Given the description of an element on the screen output the (x, y) to click on. 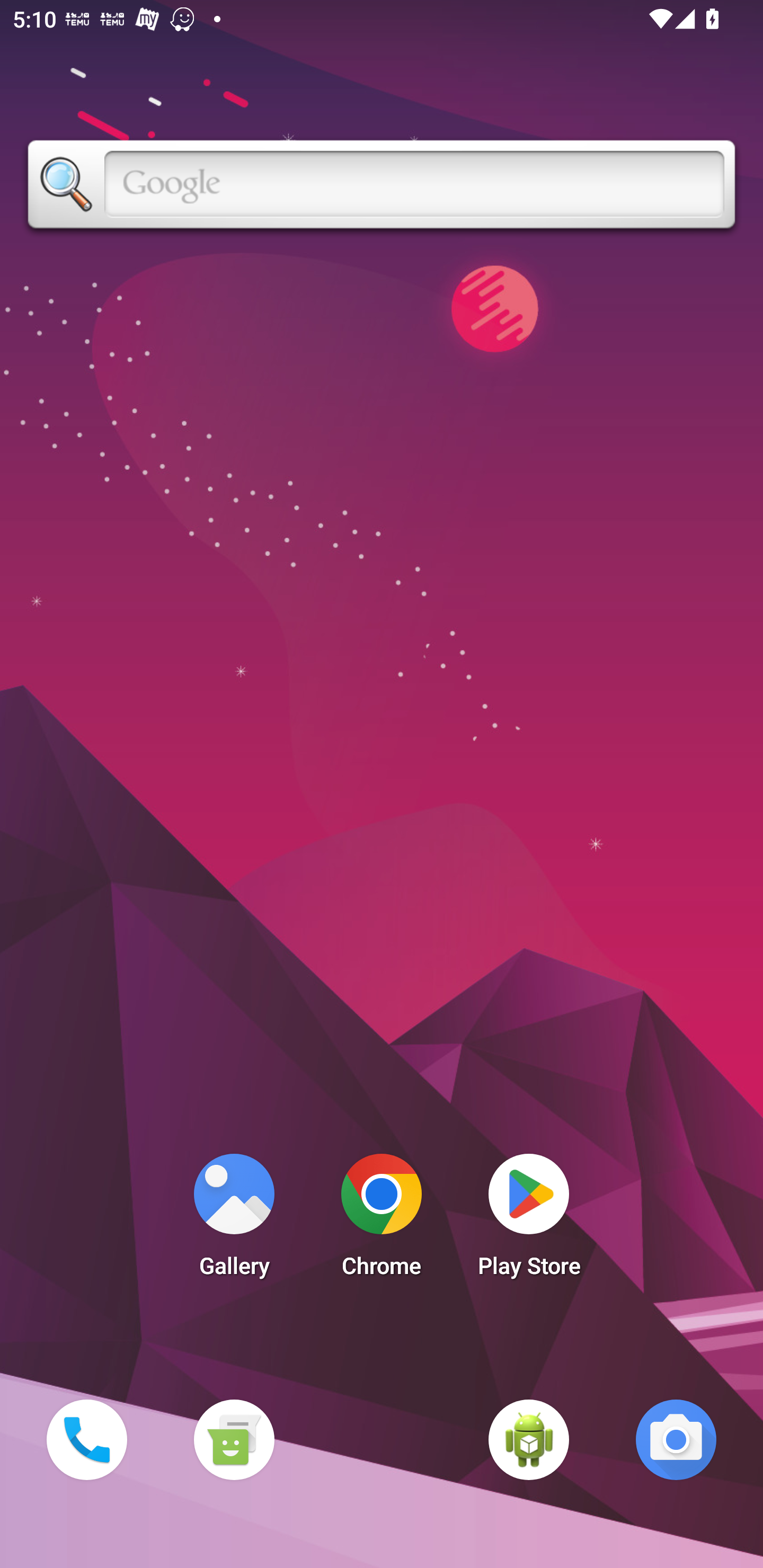
Gallery (233, 1220)
Chrome (381, 1220)
Play Store (528, 1220)
Phone (86, 1439)
Messaging (233, 1439)
WebView Browser Tester (528, 1439)
Camera (676, 1439)
